Given the description of an element on the screen output the (x, y) to click on. 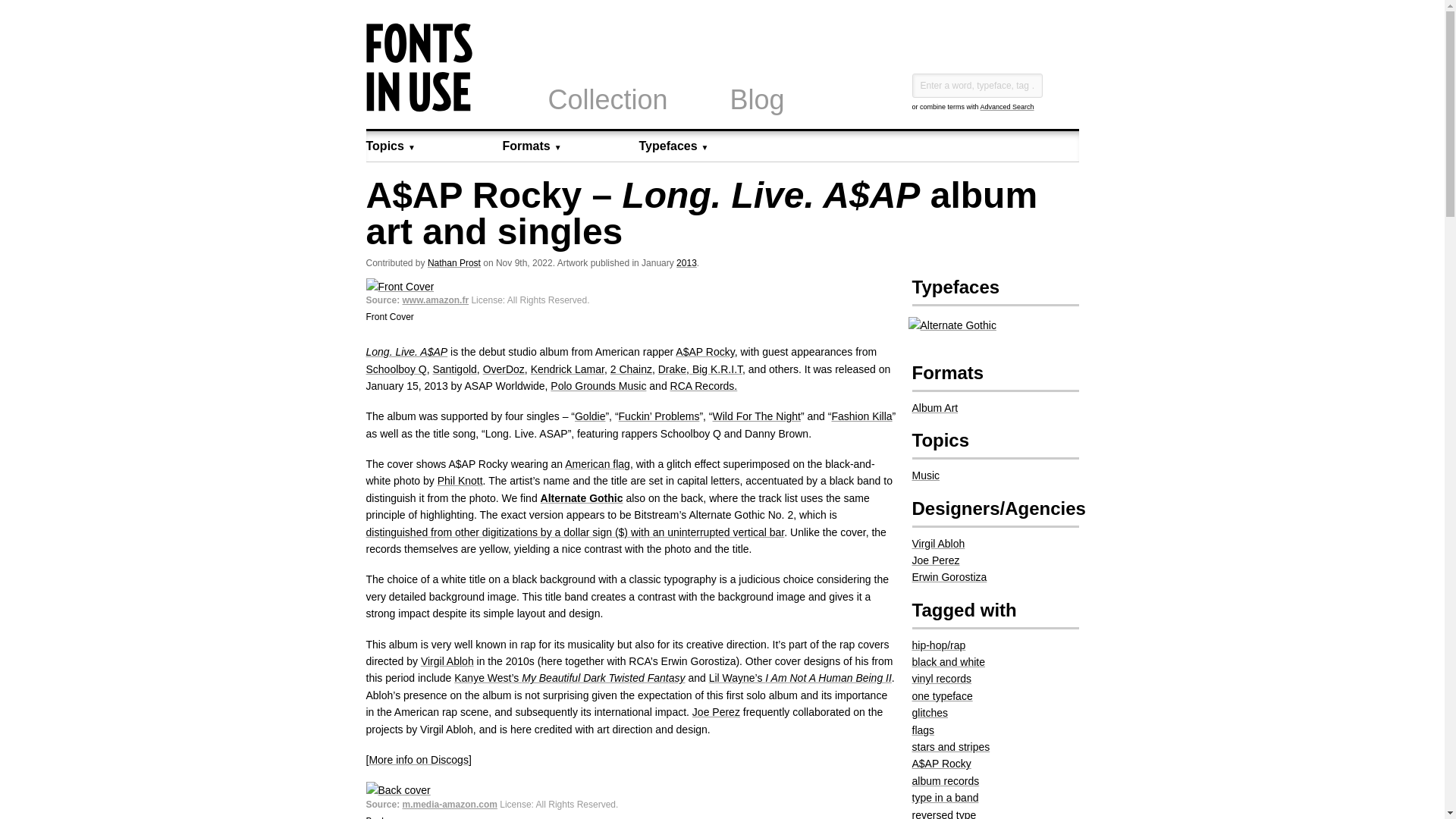
Blog (756, 99)
Advanced Search (1006, 106)
Fonts in Use (418, 108)
Collection (606, 99)
